Given the description of an element on the screen output the (x, y) to click on. 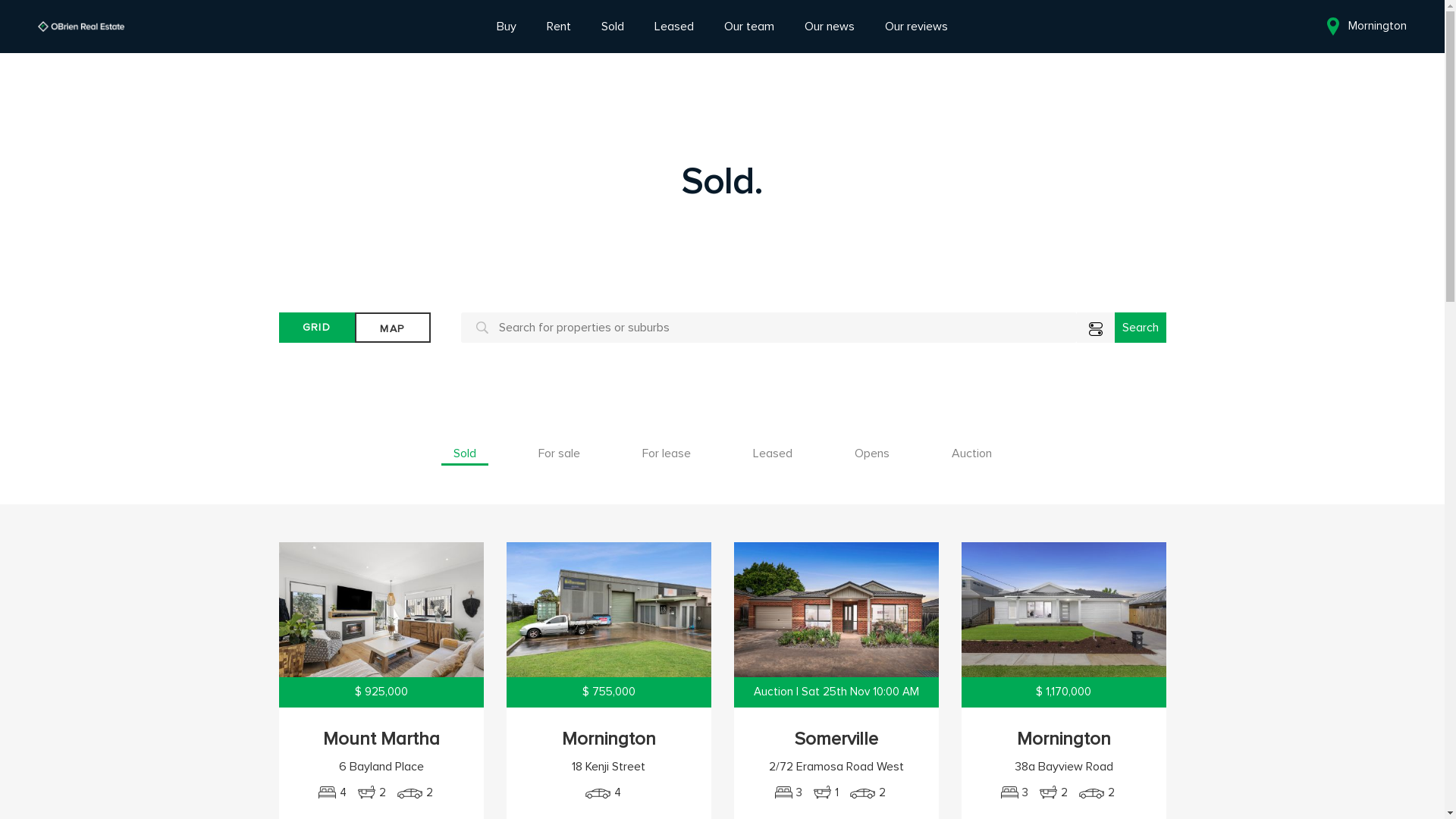
Great Opportunity = Solid Investment Element type: hover (608, 609)
Leased Element type: text (771, 453)
MAP Element type: text (392, 328)
For lease Element type: text (665, 453)
View More Options Element type: text (1095, 328)
Auction Element type: text (970, 453)
Rent Element type: text (558, 26)
Search Element type: text (1140, 327)
Hamptons on Bayview Element type: hover (1063, 609)
Sold Element type: text (464, 453)
Our team Element type: text (749, 26)
For sale Element type: text (559, 453)
Buy Element type: text (506, 26)
Opens Element type: text (870, 453)
Leased Element type: text (674, 26)
Sold Element type: text (612, 26)
GRID Element type: text (316, 327)
Mornington Element type: text (1365, 26)
Our reviews Element type: text (916, 26)
Our news Element type: text (829, 26)
